Given the description of an element on the screen output the (x, y) to click on. 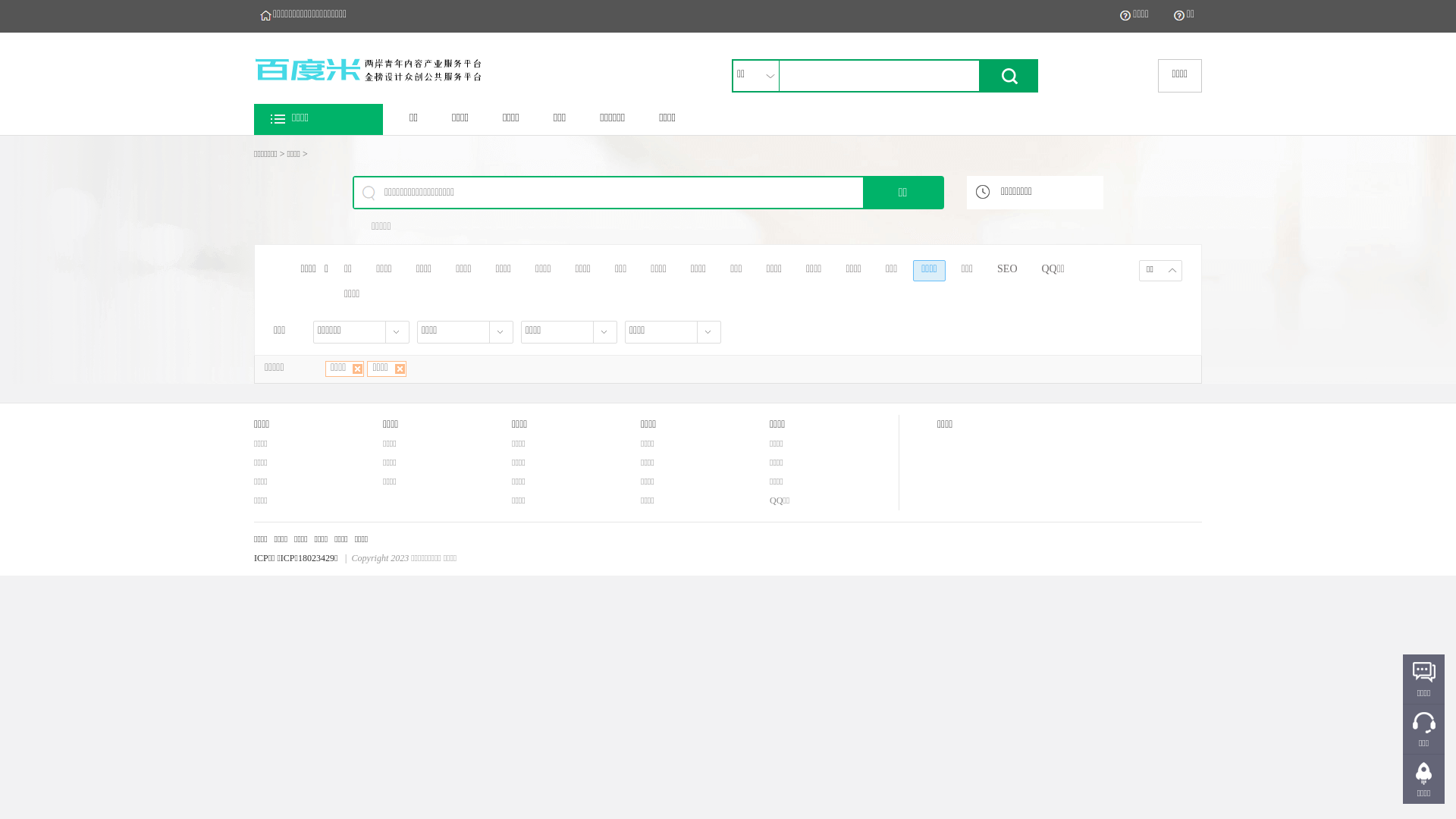
SEO Element type: text (1006, 270)
